Given the description of an element on the screen output the (x, y) to click on. 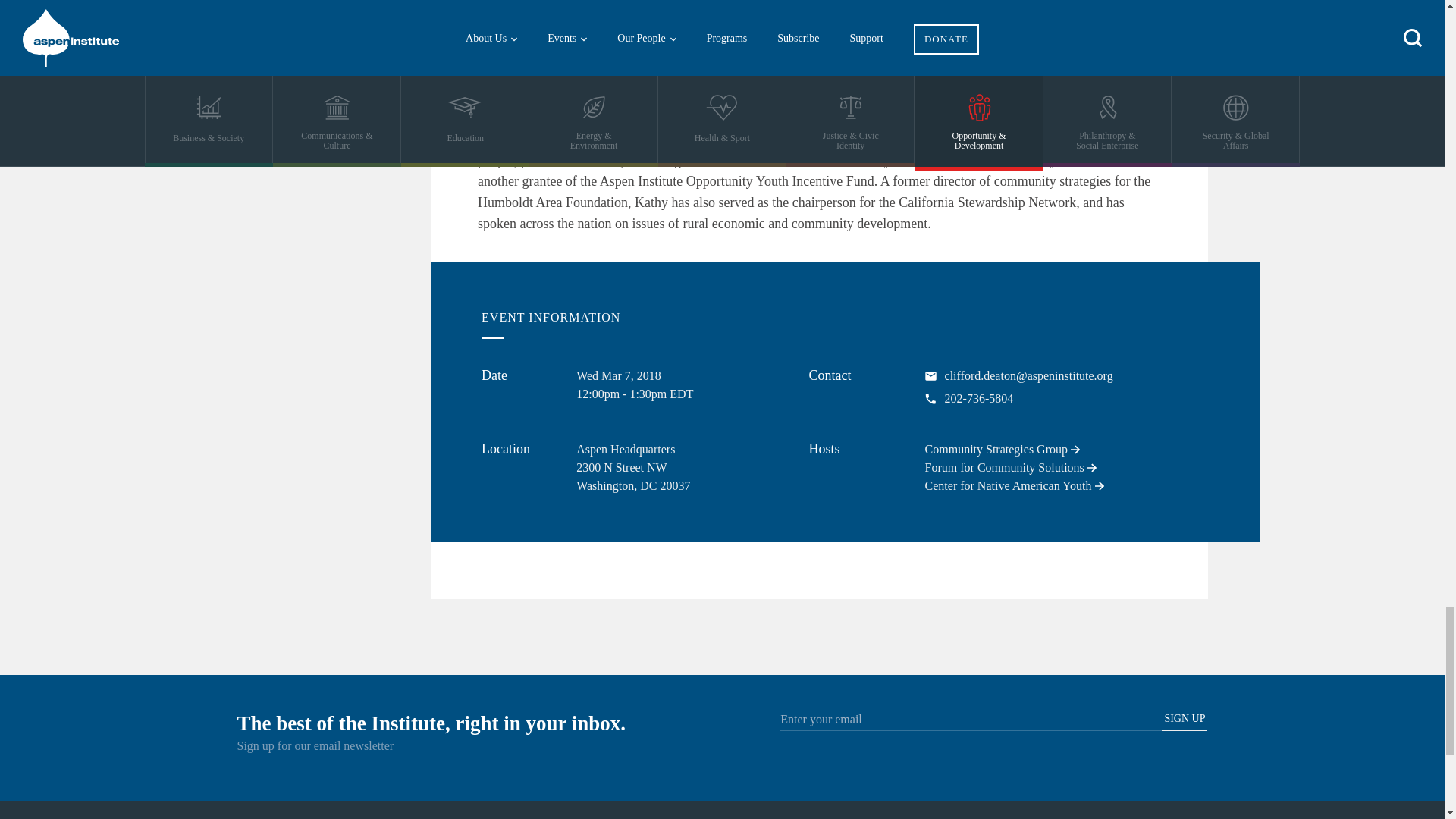
SIGN UP (1184, 721)
